Given the description of an element on the screen output the (x, y) to click on. 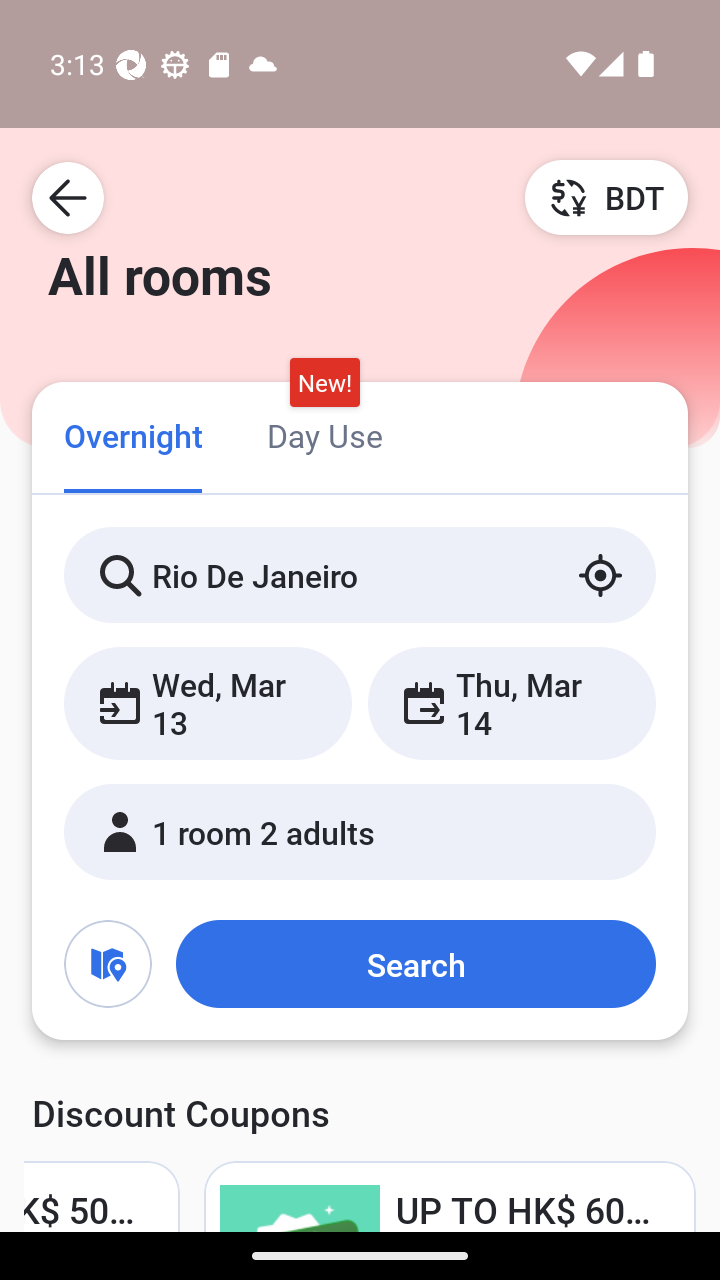
BDT (606, 197)
New! (324, 383)
Day Use (324, 434)
Rio De Janeiro (359, 575)
Wed, Mar 13 (208, 703)
Thu, Mar 14 (511, 703)
1 room 2 adults (359, 831)
Search (415, 964)
